Given the description of an element on the screen output the (x, y) to click on. 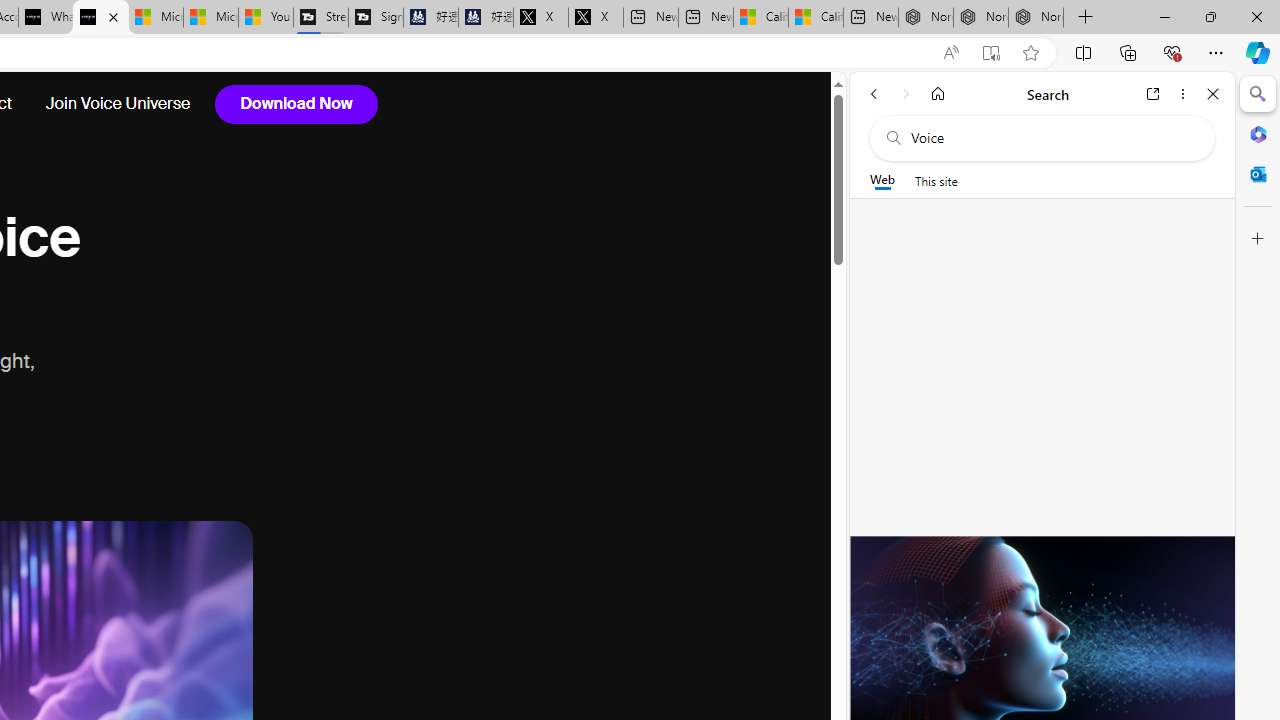
Forward (906, 93)
X (596, 17)
Microsoft Start Sports (156, 17)
Open link in new tab (1153, 93)
Web scope (882, 180)
Search the web (1051, 137)
Download Now (296, 103)
Enter Immersive Reader (F9) (991, 53)
Streaming Coverage | T3 (321, 17)
Search (1258, 94)
